Given the description of an element on the screen output the (x, y) to click on. 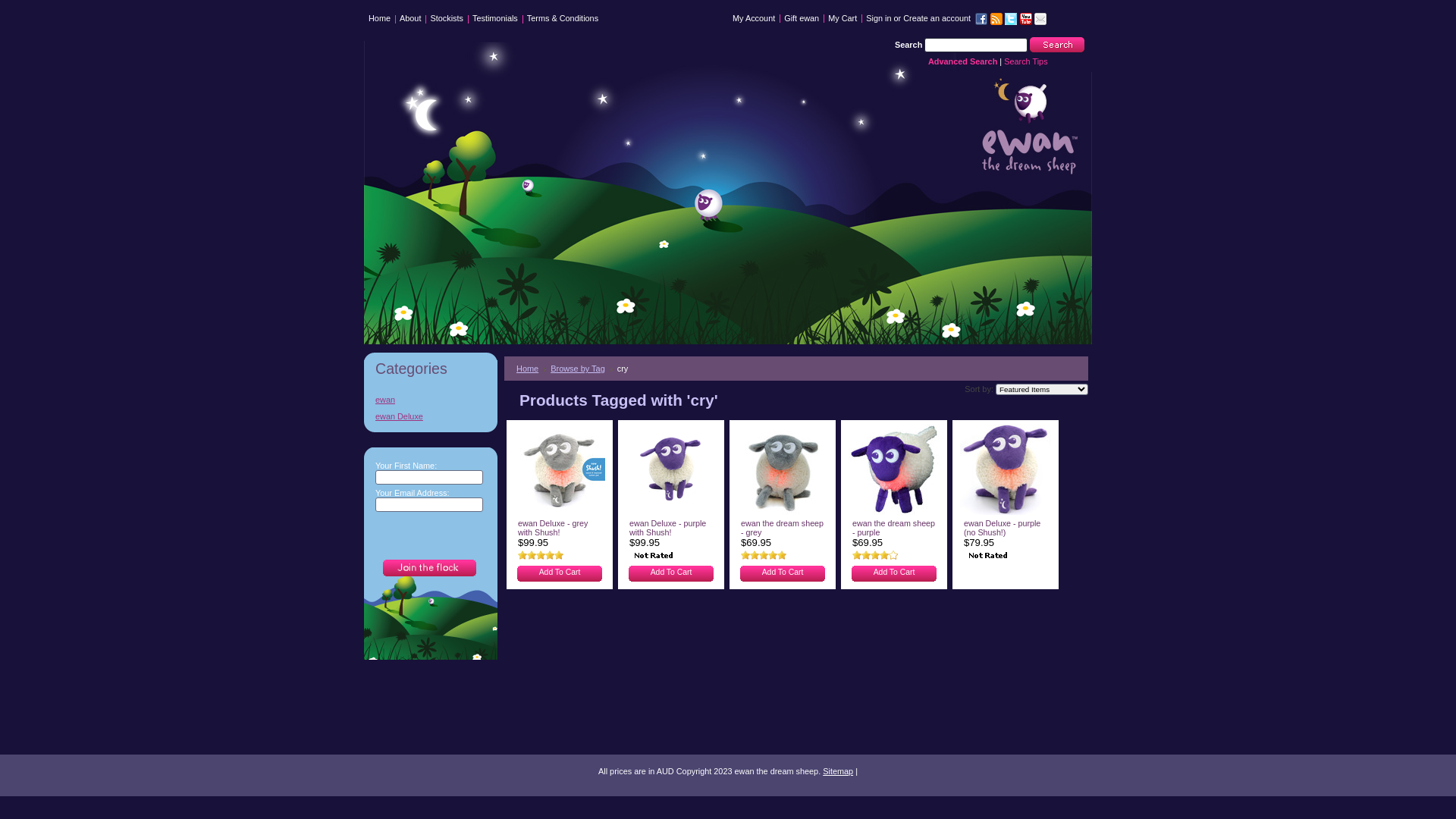
Gift ewan Element type: text (801, 17)
My Account Element type: text (753, 17)
My Cart Element type: text (842, 17)
Browse by Tag Element type: text (581, 368)
Sign in Element type: text (878, 17)
ewan Deluxe - grey with Shush! Element type: text (552, 528)
Sitemap Element type: text (837, 770)
Terms & Conditions Element type: text (562, 20)
Add To Cart Element type: text (671, 571)
Add To Cart Element type: text (894, 571)
Advanced Search Element type: text (962, 60)
About Element type: text (410, 20)
ewan Deluxe - purple (no Shush!) Element type: text (1001, 528)
Stockists Element type: text (446, 20)
ewan Element type: text (383, 399)
Add To Cart Element type: text (559, 571)
Home Element type: text (379, 20)
Home Element type: text (531, 368)
ewan Deluxe Element type: text (397, 415)
Add To Cart Element type: text (782, 571)
Search Tips Element type: text (1025, 60)
ewan Deluxe - purple with Shush! Element type: text (667, 528)
Testimonials Element type: text (494, 20)
ewan the dream sheep - purple Element type: text (893, 528)
Create an account Element type: text (936, 17)
ewan the dream sheep - grey Element type: text (781, 528)
